Given the description of an element on the screen output the (x, y) to click on. 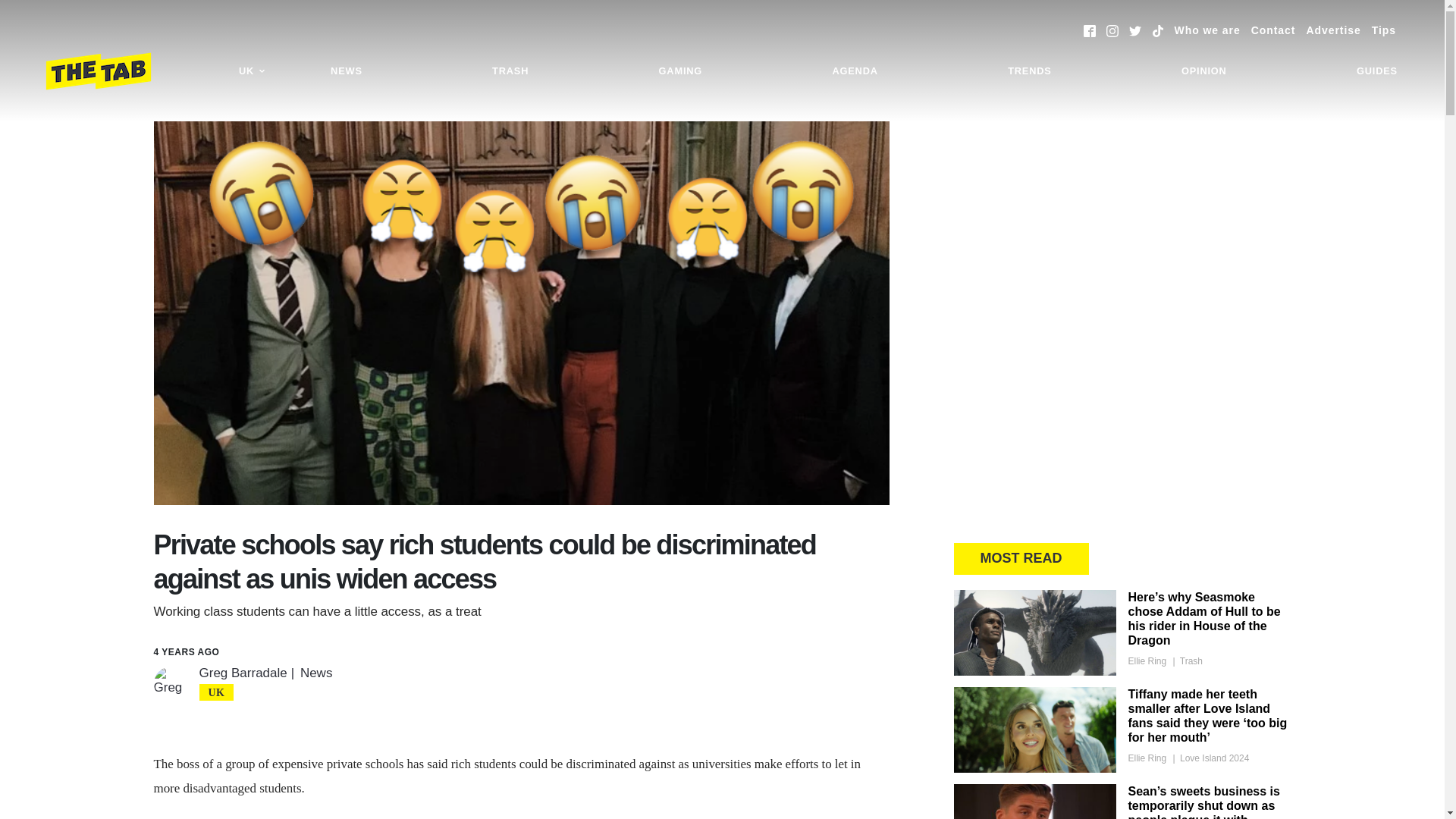
Who we are (1207, 29)
OPINION (1204, 71)
Advertise (1332, 29)
UK (252, 71)
TRASH (510, 71)
Contact (1272, 29)
GUIDES (1377, 71)
Tips (1383, 29)
GAMING (680, 71)
NEWS (346, 71)
TRENDS (1028, 71)
AGENDA (854, 71)
